Given the description of an element on the screen output the (x, y) to click on. 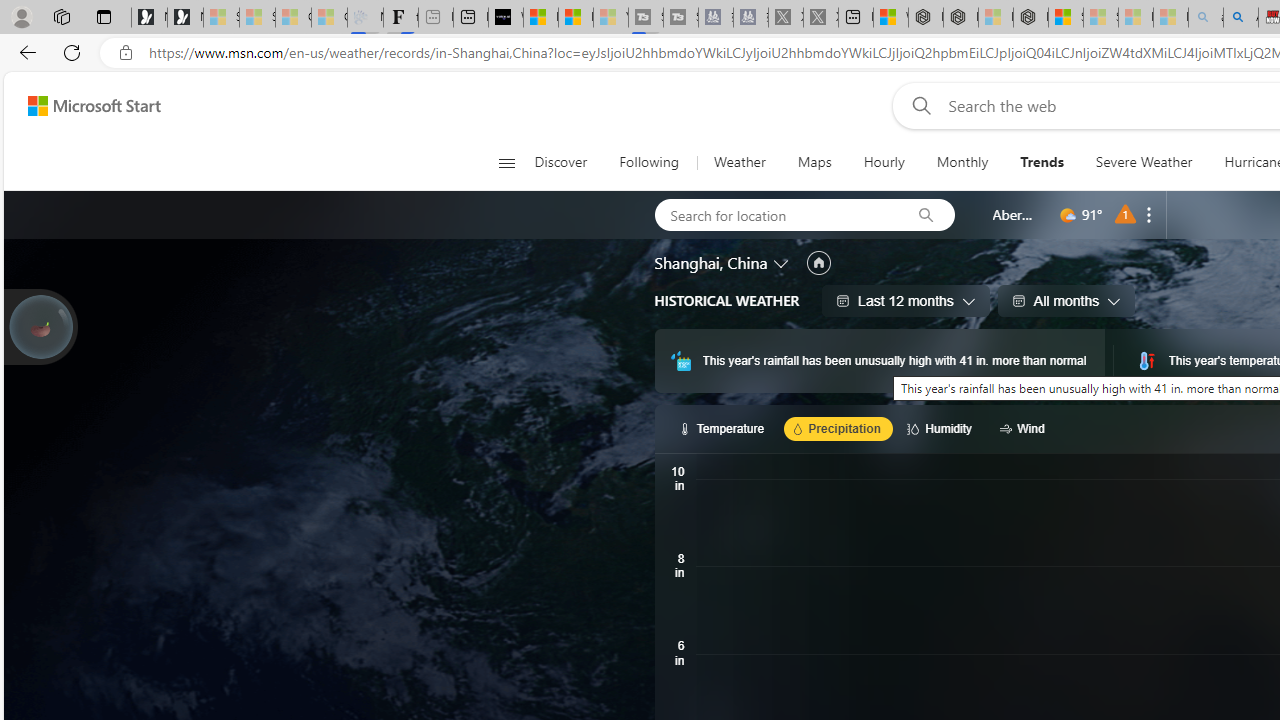
All months (1065, 300)
Severe Weather (1143, 162)
Open navigation menu (506, 162)
Skip to footer (82, 105)
Nordace - Nordace Siena Is Not An Ordinary Backpack (1030, 17)
